Given the description of an element on the screen output the (x, y) to click on. 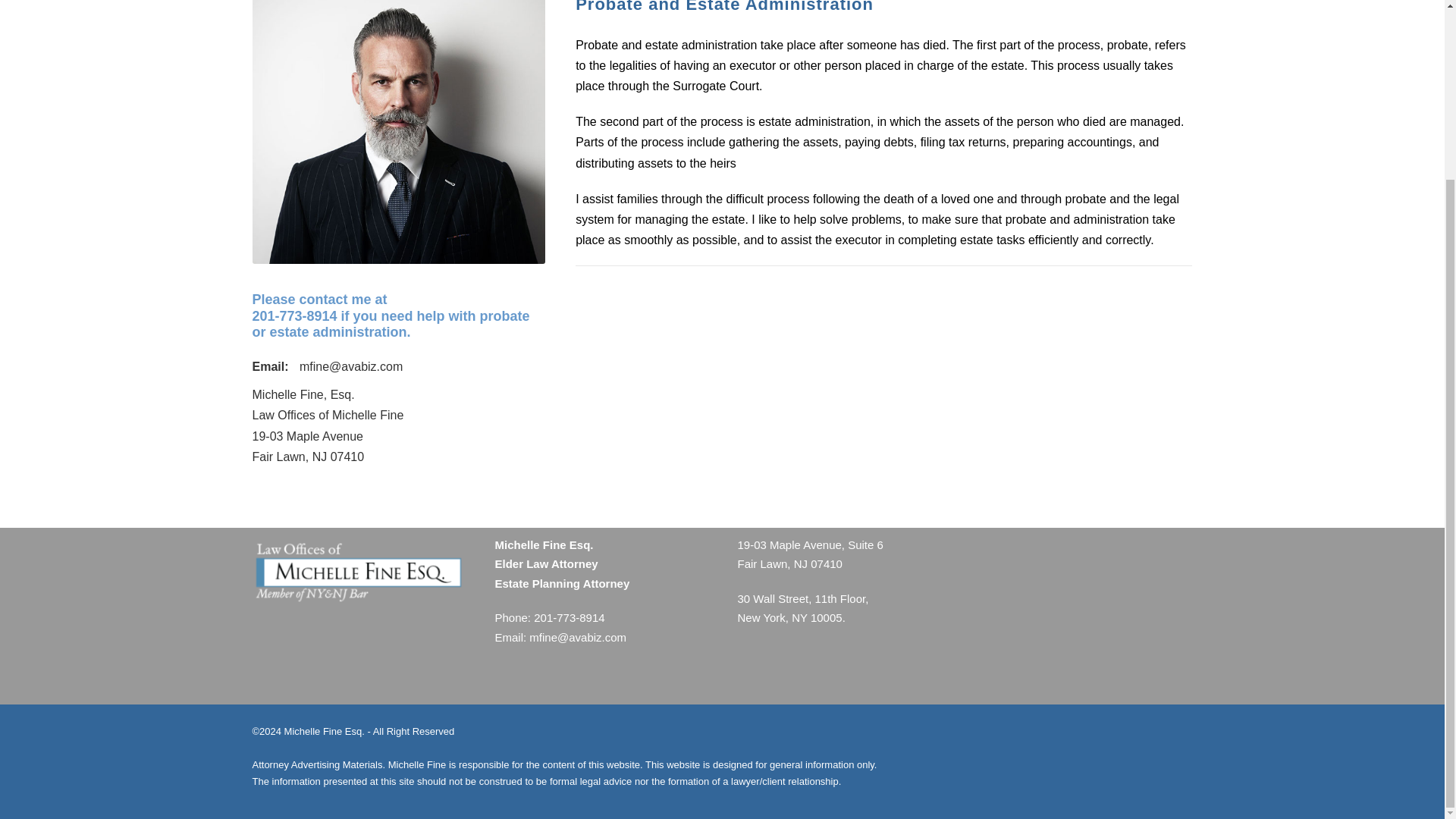
James (397, 132)
